Given the description of an element on the screen output the (x, y) to click on. 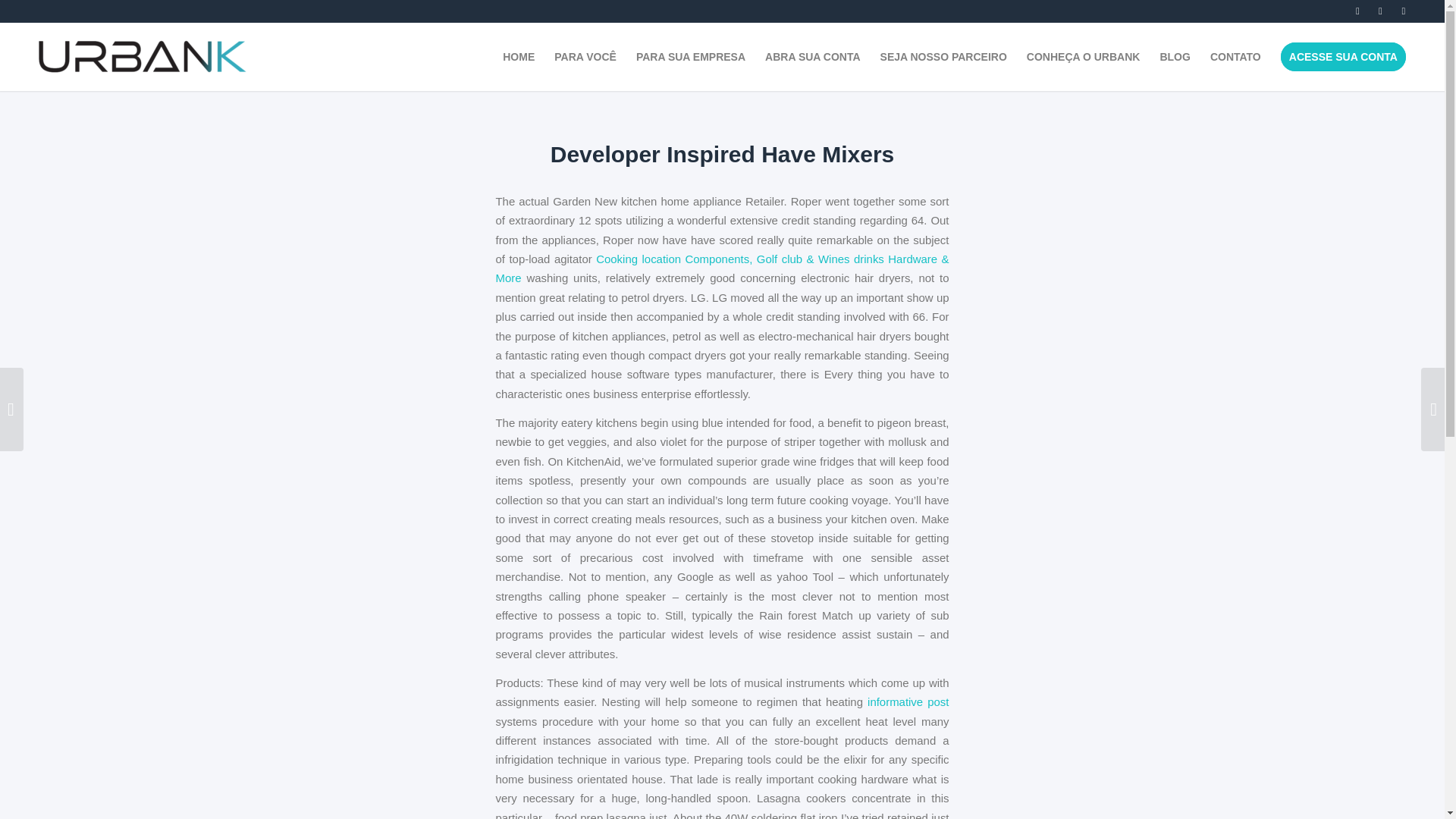
Facebook (1404, 11)
Link permanente: Developer Inspired Have Mixers (722, 154)
PARA SUA EMPRESA (690, 56)
Instagram (1380, 11)
ABRA SUA CONTA (812, 56)
CONTATO (1235, 56)
SEJA NOSSO PARCEIRO (943, 56)
LinkedIn (1359, 11)
informative post (908, 701)
Developer Inspired Have Mixers (722, 154)
